Given the description of an element on the screen output the (x, y) to click on. 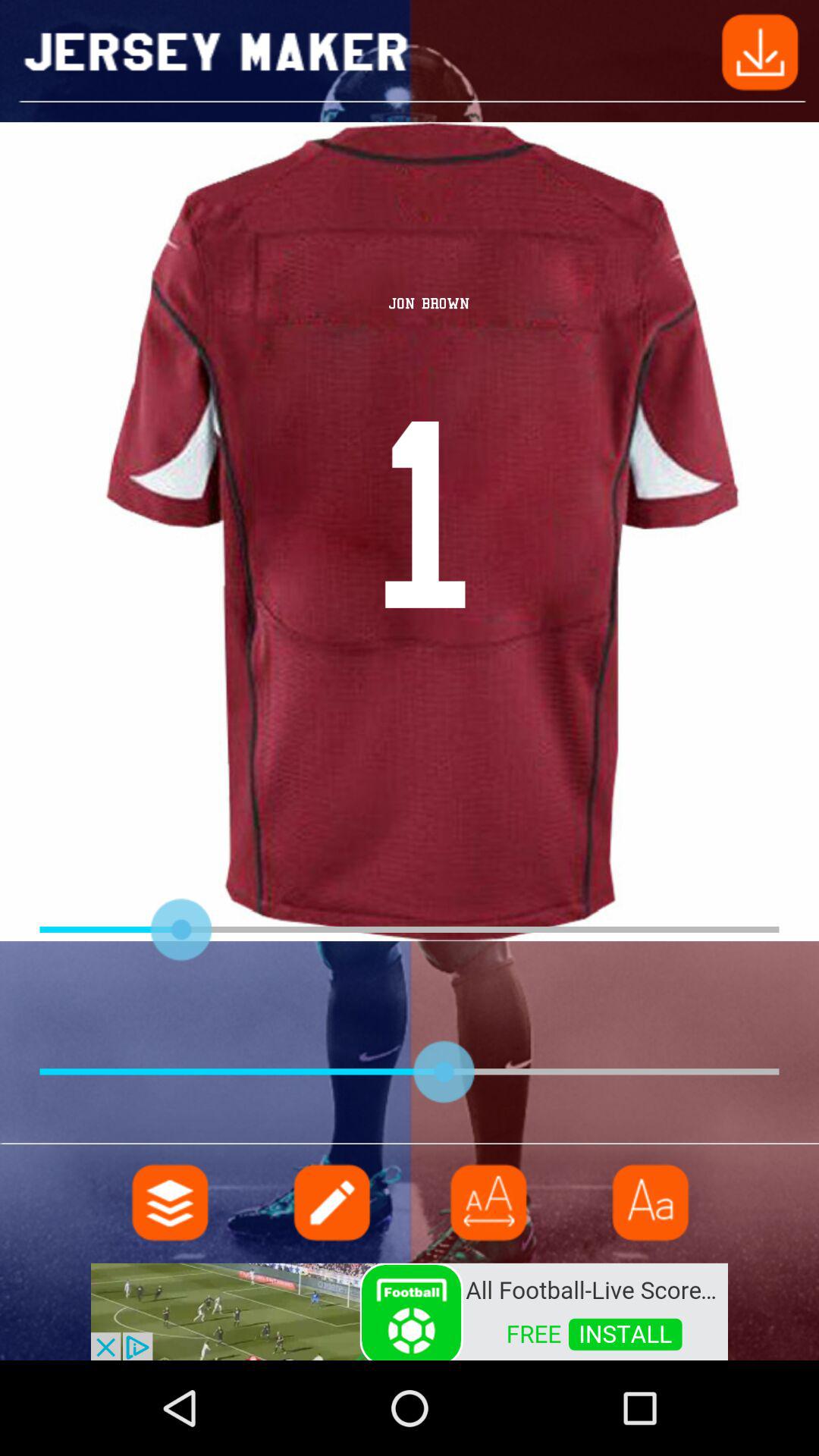
menu page (170, 1202)
